Given the description of an element on the screen output the (x, y) to click on. 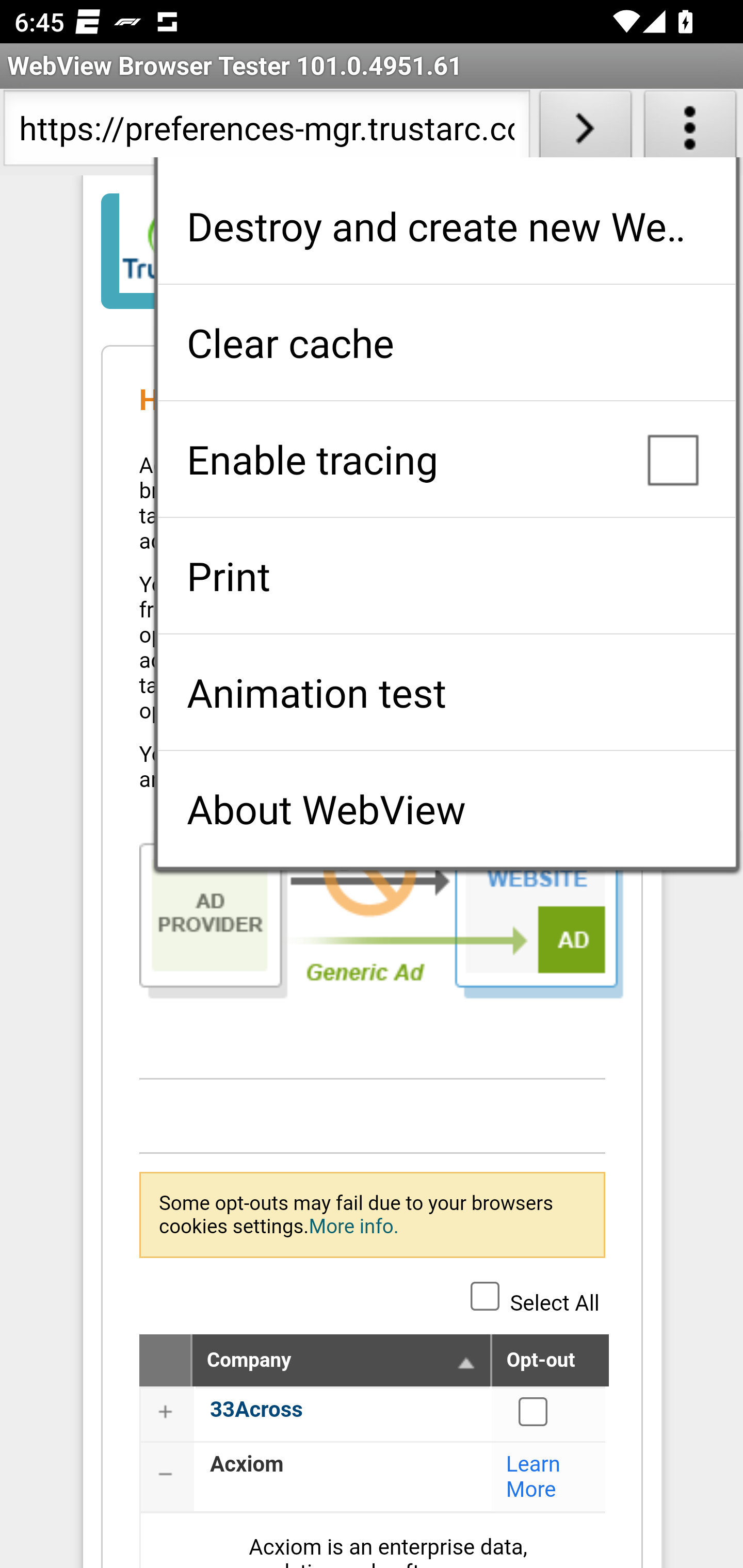
Destroy and create new WebView (446, 225)
Clear cache (446, 342)
Enable tracing (446, 459)
Print (446, 575)
Animation test (446, 692)
About WebView (446, 809)
